Given the description of an element on the screen output the (x, y) to click on. 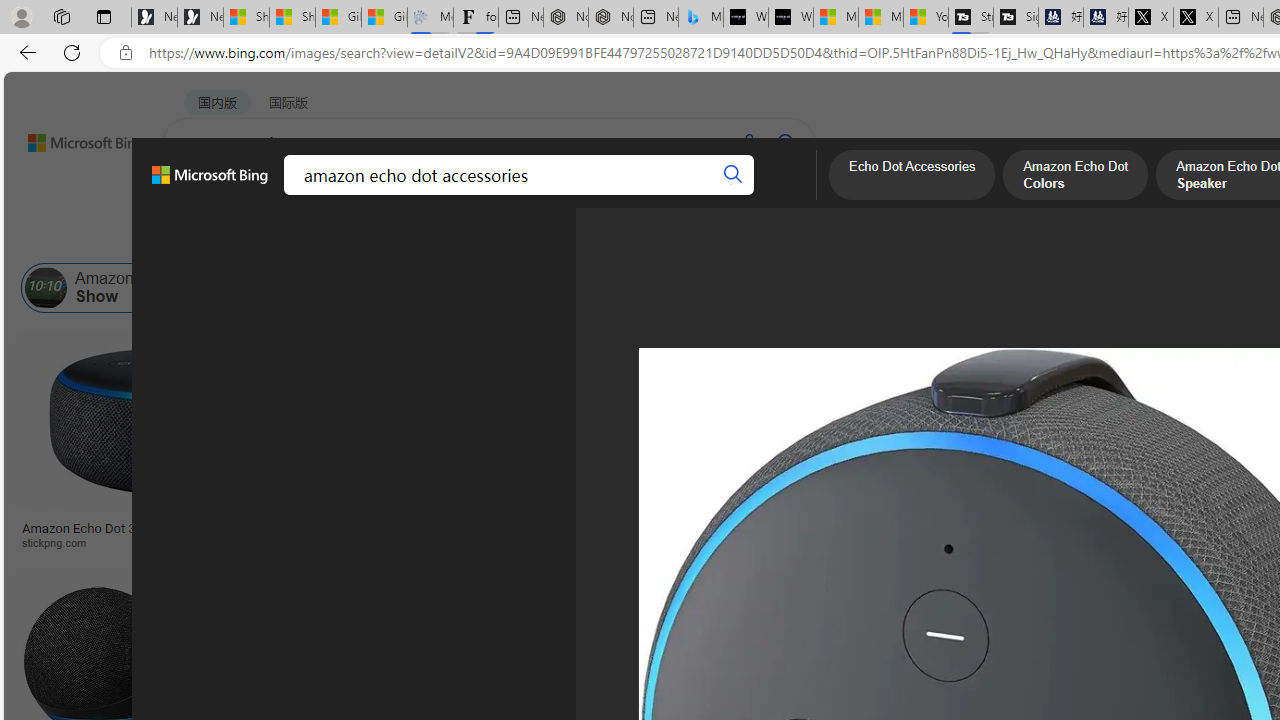
X (1195, 17)
Smart Speaker Alexa Echo Dot (995, 521)
Amazon Echo Dot with Clock (786, 287)
ACADEMIC (548, 195)
Amazon Echo Show (107, 287)
Amazon Echo Dot 3rd (651, 287)
Class: b_pri_nav_svg (336, 196)
Amazon Echo Dot 3rd (575, 287)
